Given the description of an element on the screen output the (x, y) to click on. 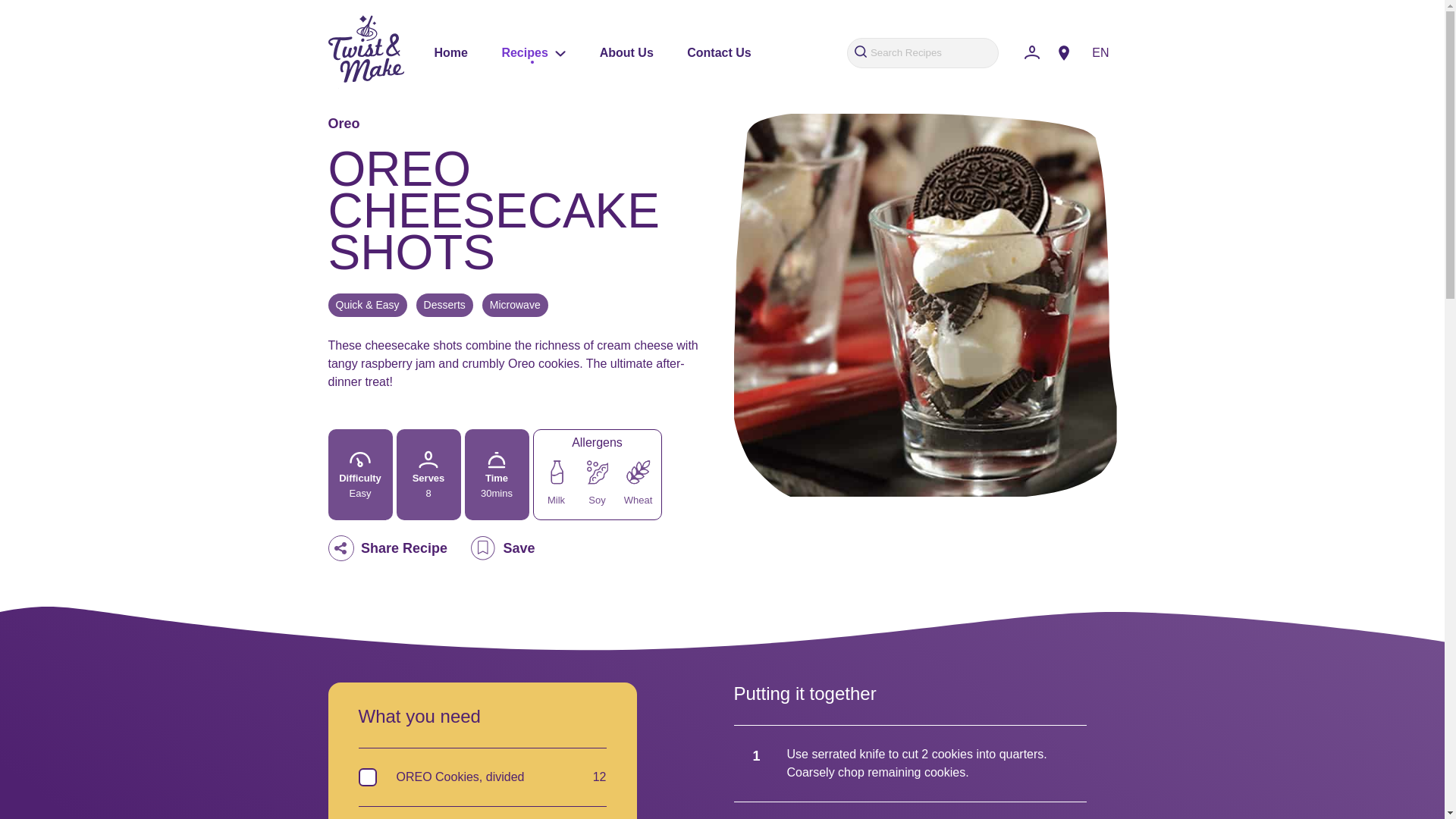
Microwave (514, 304)
About Us (626, 51)
Home (450, 51)
Desserts (444, 304)
Contact Us (719, 51)
Recipes (533, 51)
Oreo (343, 123)
